Given the description of an element on the screen output the (x, y) to click on. 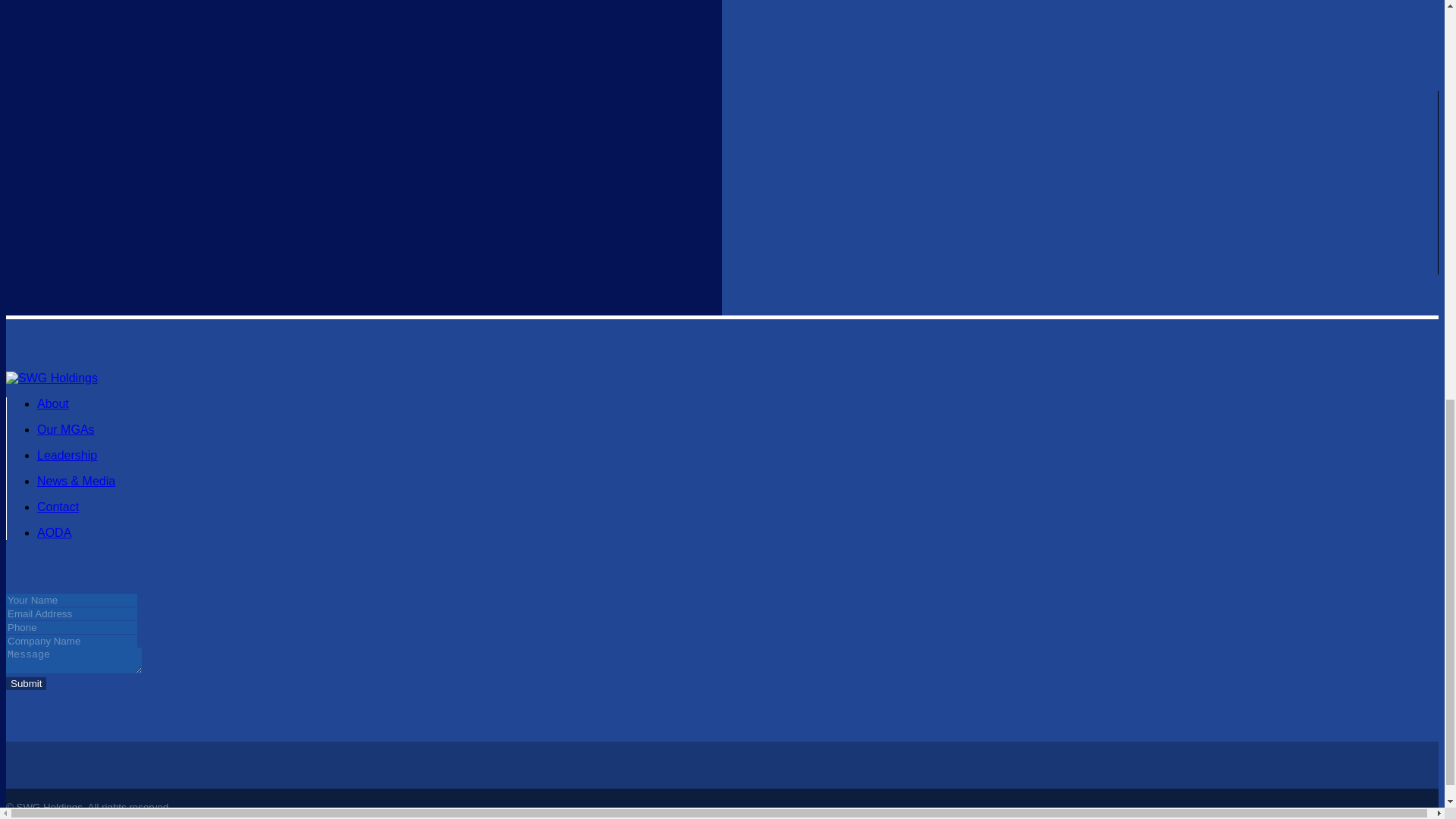
Contact (57, 506)
About (52, 403)
Submit (25, 683)
Our MGAs (65, 429)
AODA (54, 532)
Leadership (67, 454)
Submit (25, 683)
